Given the description of an element on the screen output the (x, y) to click on. 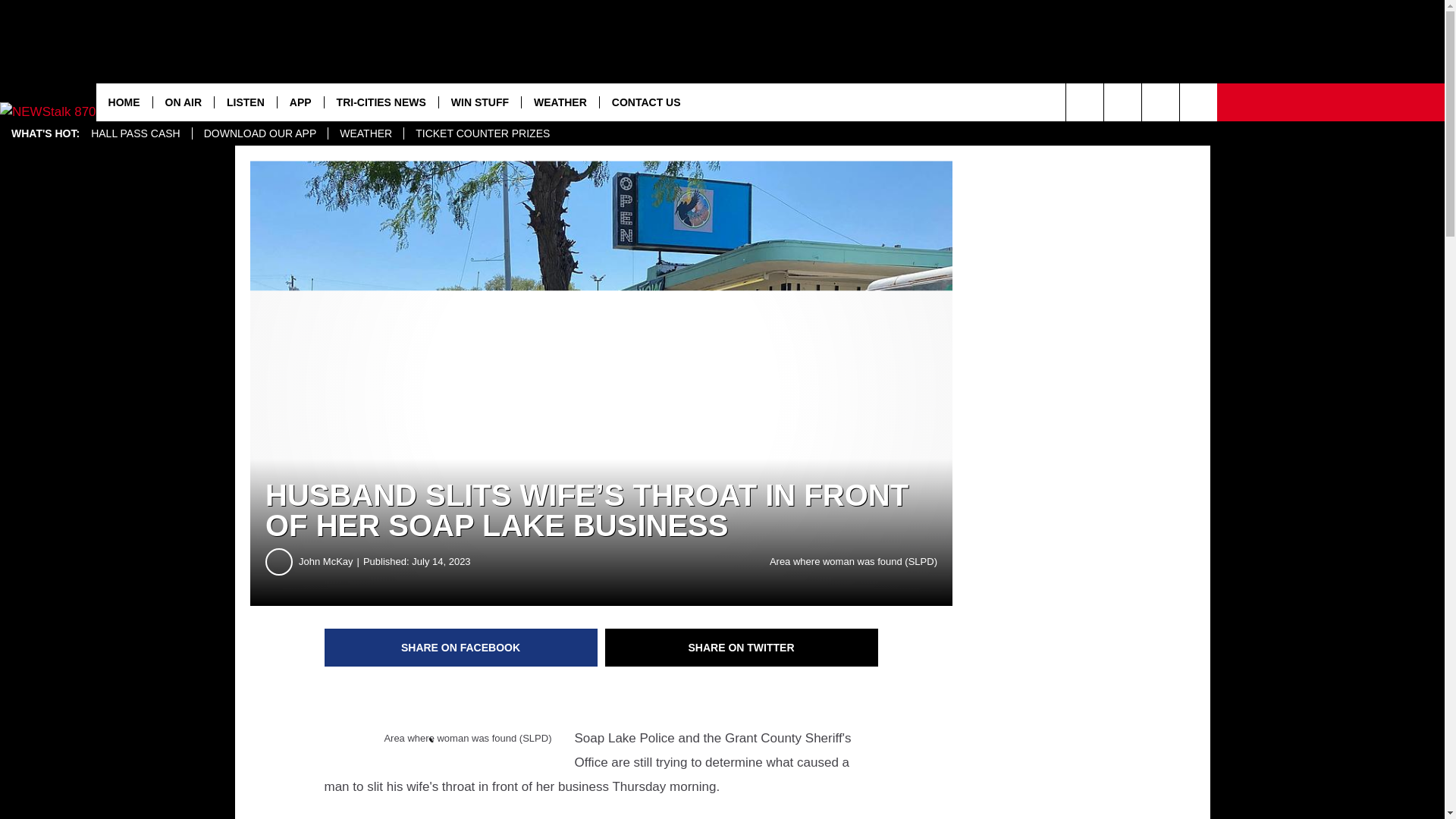
WEATHER (365, 133)
TRI-CITIES NEWS (380, 102)
WIN STUFF (479, 102)
LISTEN (245, 102)
Share on Twitter (741, 647)
CONTACT US (645, 102)
HALL PASS CASH (136, 133)
ON AIR (183, 102)
WEATHER (559, 102)
APP (299, 102)
